Given the description of an element on the screen output the (x, y) to click on. 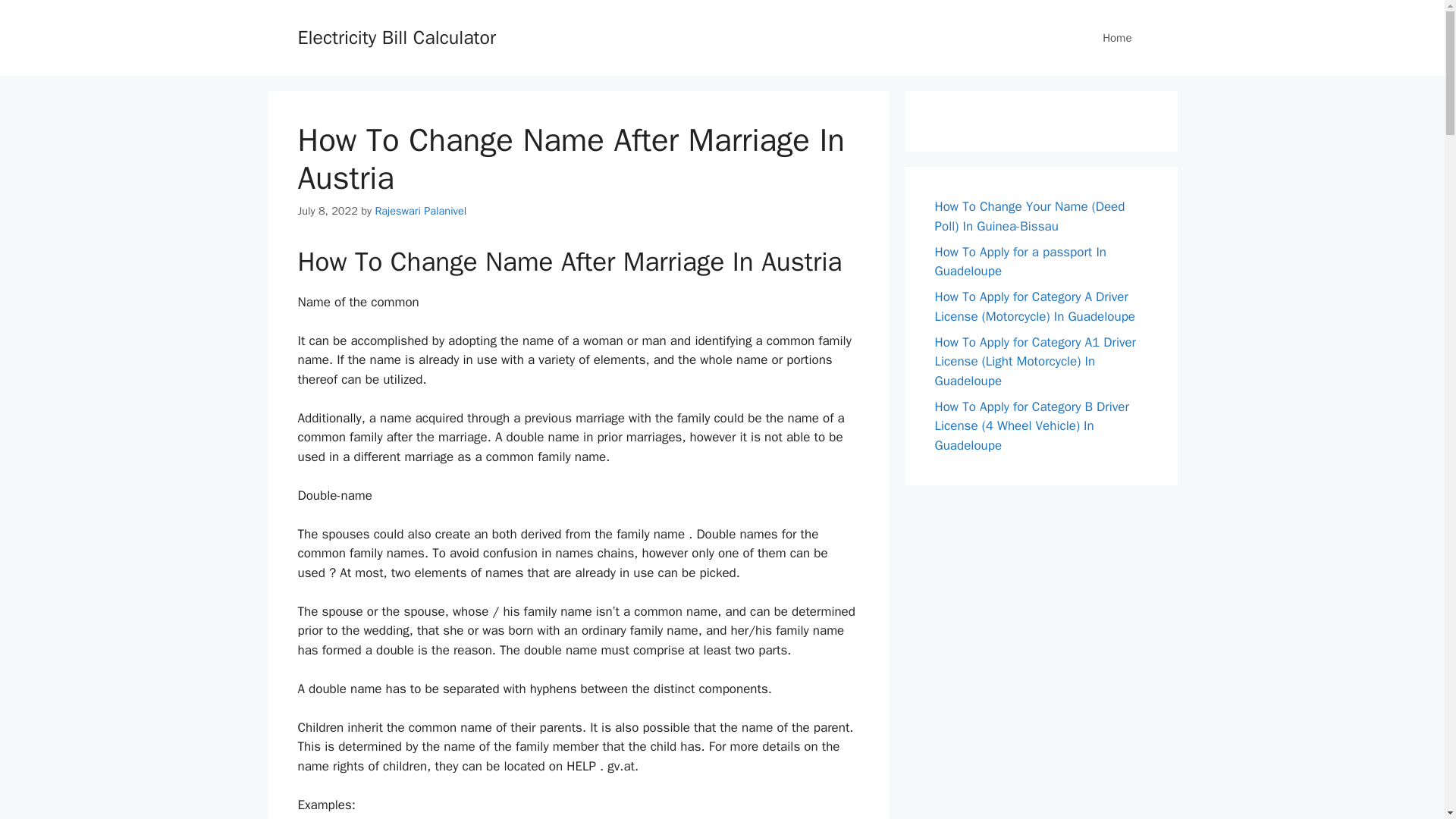
Electricity Bill Calculator (396, 37)
How To Apply for a passport In Guadeloupe (1019, 262)
Rajeswari Palanivel (419, 210)
Home (1117, 37)
View all posts by Rajeswari Palanivel (419, 210)
